Given the description of an element on the screen output the (x, y) to click on. 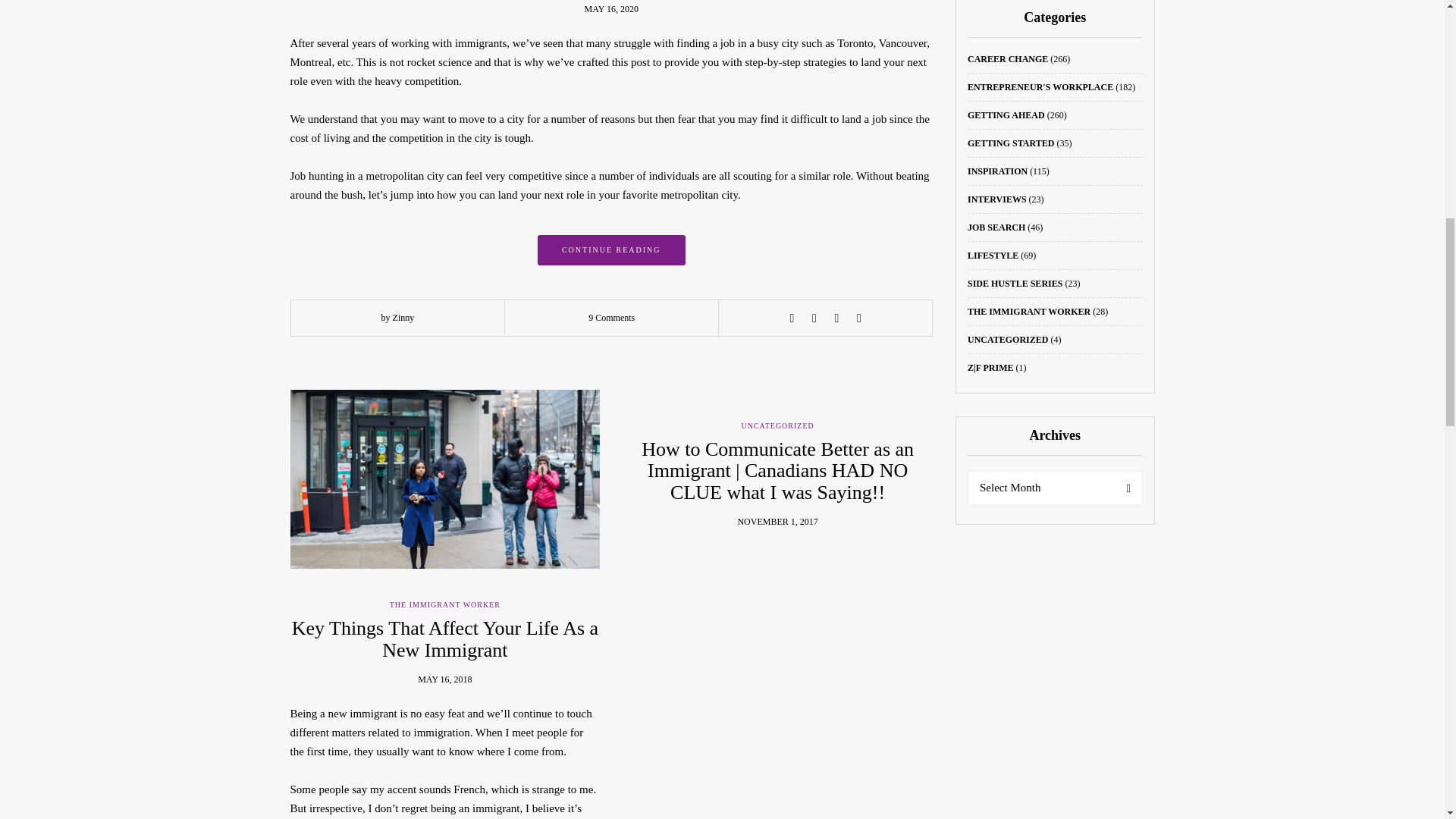
Tweet this (814, 318)
Pin this (858, 318)
Share this (791, 318)
Share with Google Plus (836, 318)
